Given the description of an element on the screen output the (x, y) to click on. 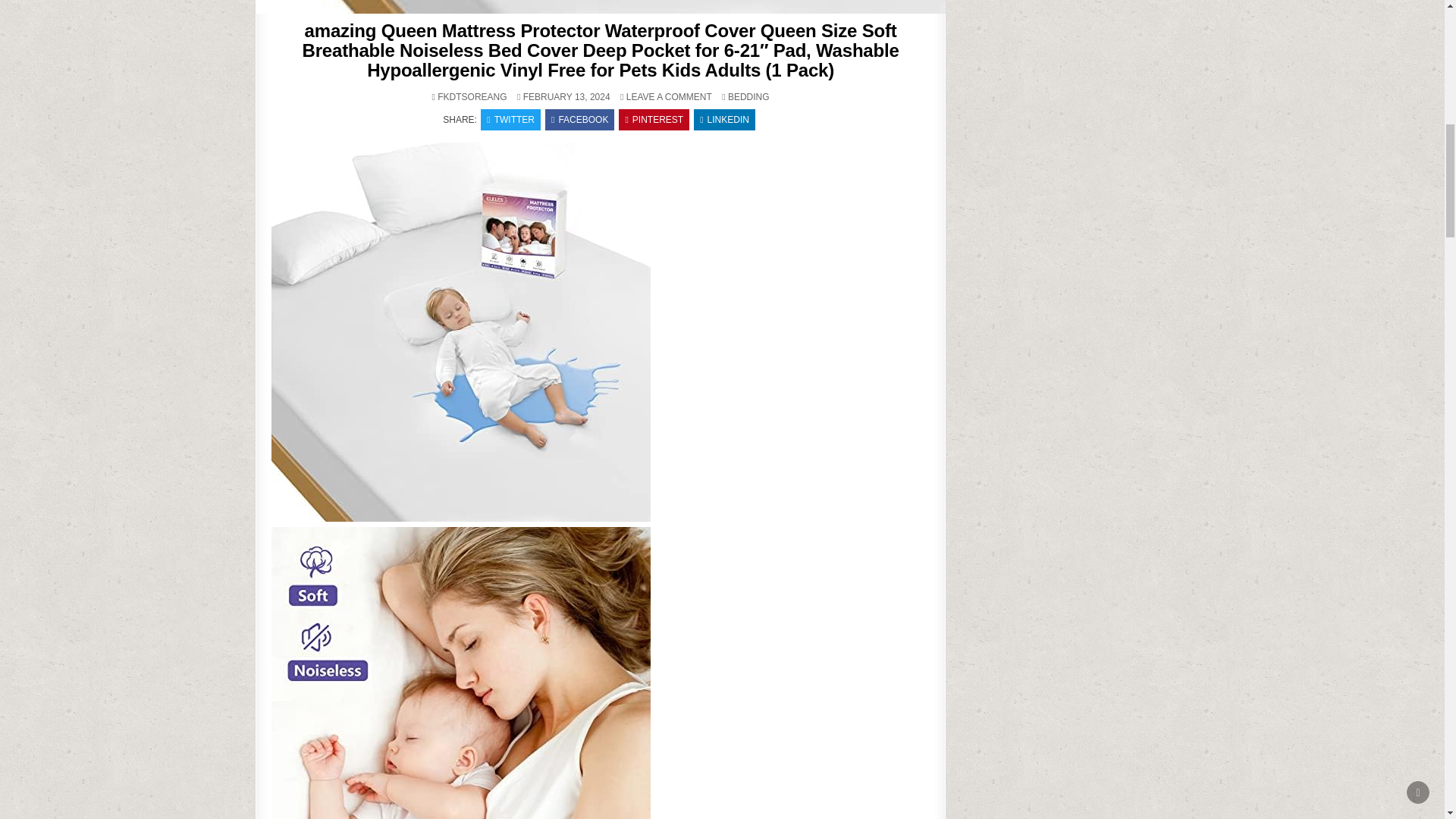
PINTEREST (653, 119)
FKDTSOREANG (472, 96)
Share this on Linkedin (724, 119)
Share this on Pinterest (653, 119)
BEDDING (749, 96)
Tweet This! (510, 119)
TWITTER (510, 119)
Share this on Facebook (579, 119)
FACEBOOK (579, 119)
LINKEDIN (724, 119)
